Given the description of an element on the screen output the (x, y) to click on. 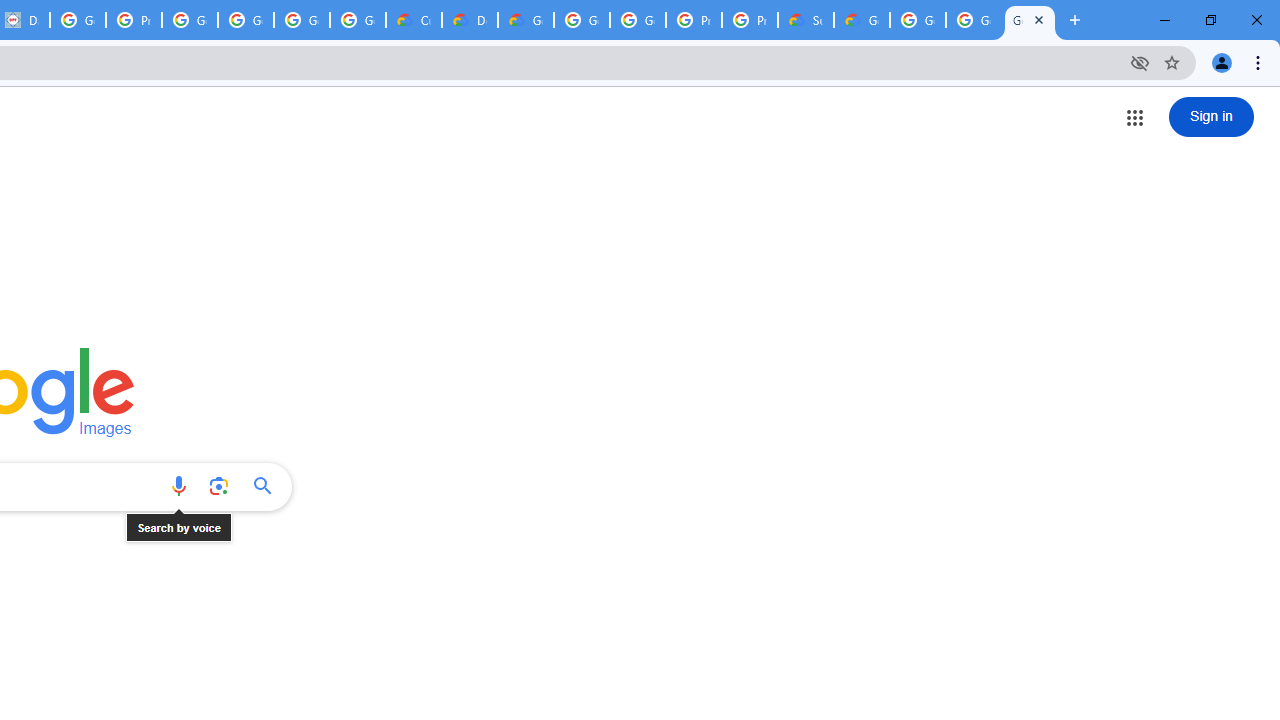
Google Cloud Platform (637, 20)
Support Hub | Google Cloud (806, 20)
Google Cloud Platform (973, 20)
Google Images (1030, 20)
